Given the description of an element on the screen output the (x, y) to click on. 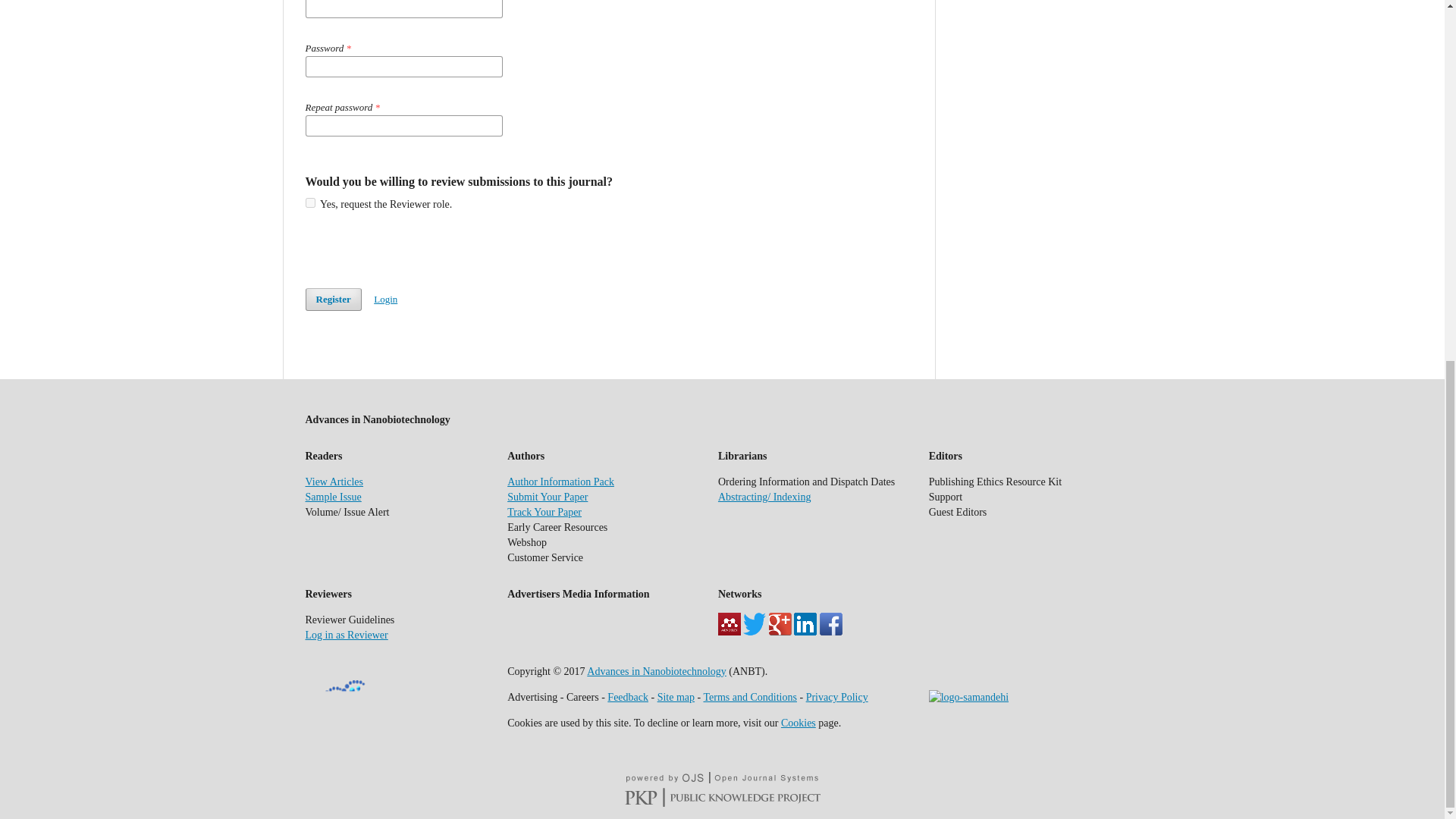
Sample Issue (332, 496)
Author Information Pack (560, 481)
1 (309, 203)
View Articles (333, 481)
Advances in Nanobiotechnology (656, 671)
Register (332, 299)
Login (385, 298)
Track Your Paper (543, 511)
Submit Your Paper (547, 496)
Log in as Reviewer (345, 634)
